Given the description of an element on the screen output the (x, y) to click on. 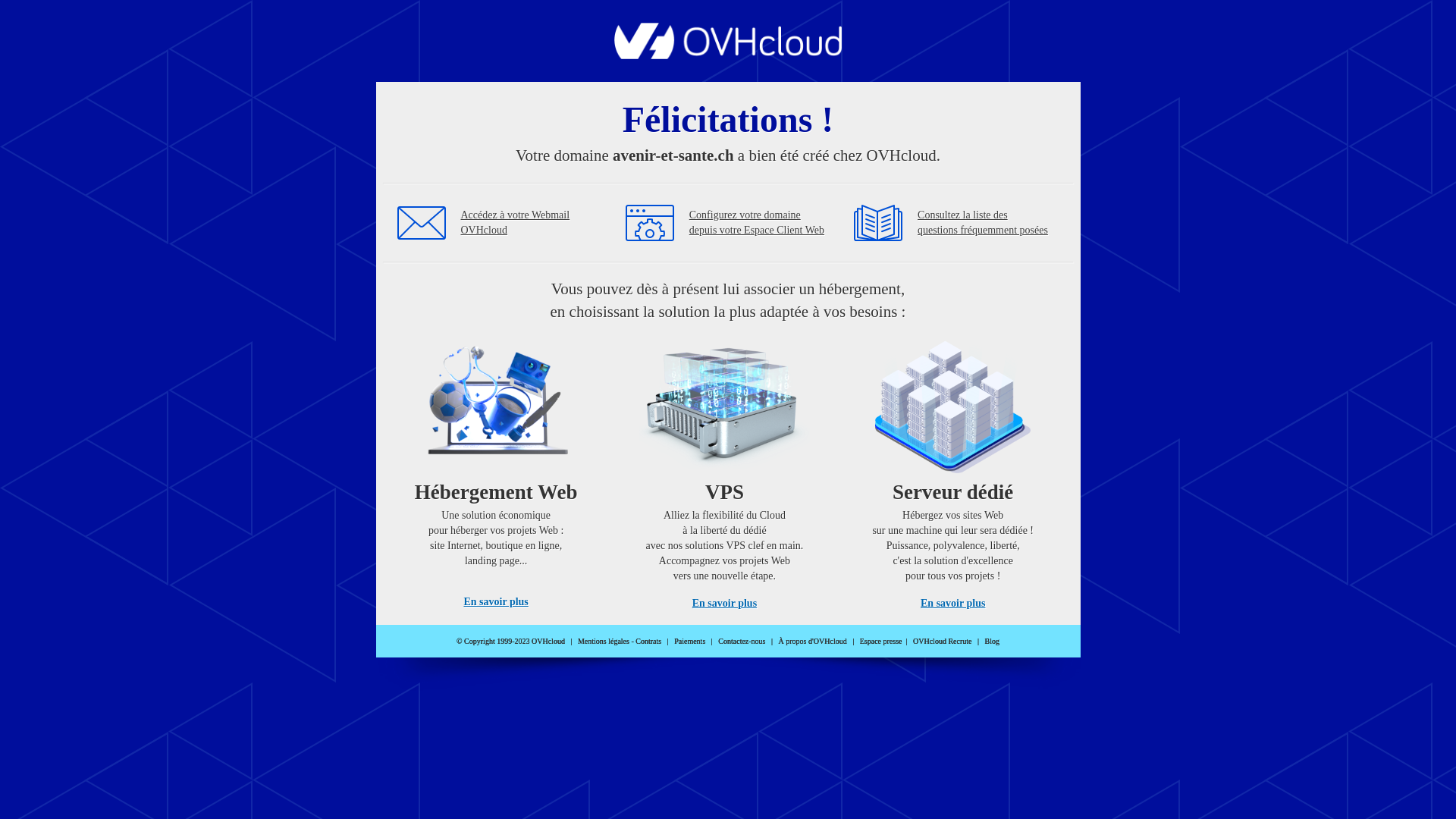
En savoir plus Element type: text (952, 602)
OVHcloud Recrute Element type: text (942, 641)
En savoir plus Element type: text (724, 602)
VPS Element type: hover (724, 469)
Configurez votre domaine
depuis votre Espace Client Web Element type: text (756, 222)
Blog Element type: text (992, 641)
OVHcloud Element type: hover (727, 54)
Espace presse Element type: text (880, 641)
En savoir plus Element type: text (495, 601)
Paiements Element type: text (689, 641)
Contactez-nous Element type: text (741, 641)
